Given the description of an element on the screen output the (x, y) to click on. 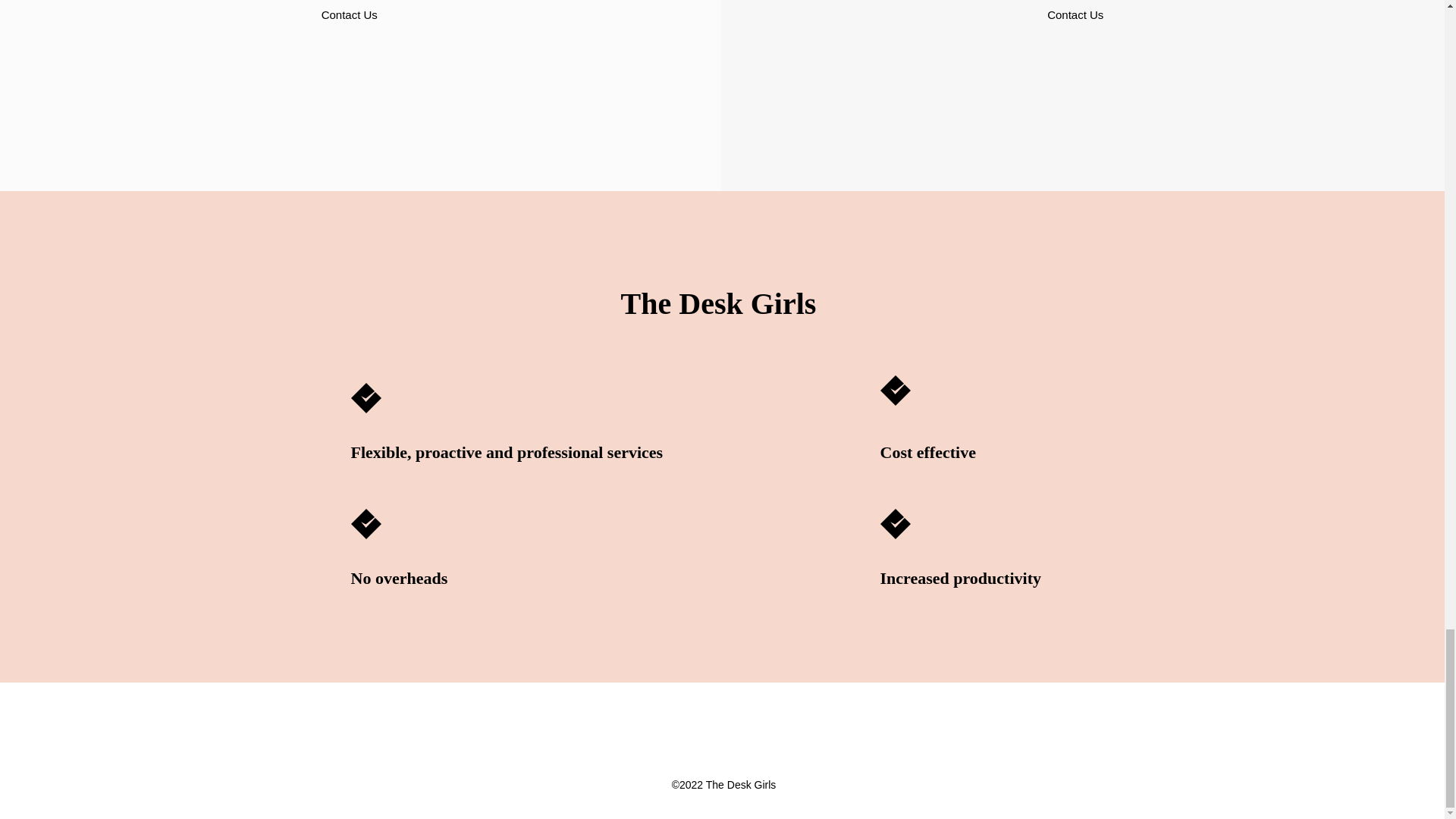
Contact Us (349, 14)
Contact Us (1075, 14)
